Given the description of an element on the screen output the (x, y) to click on. 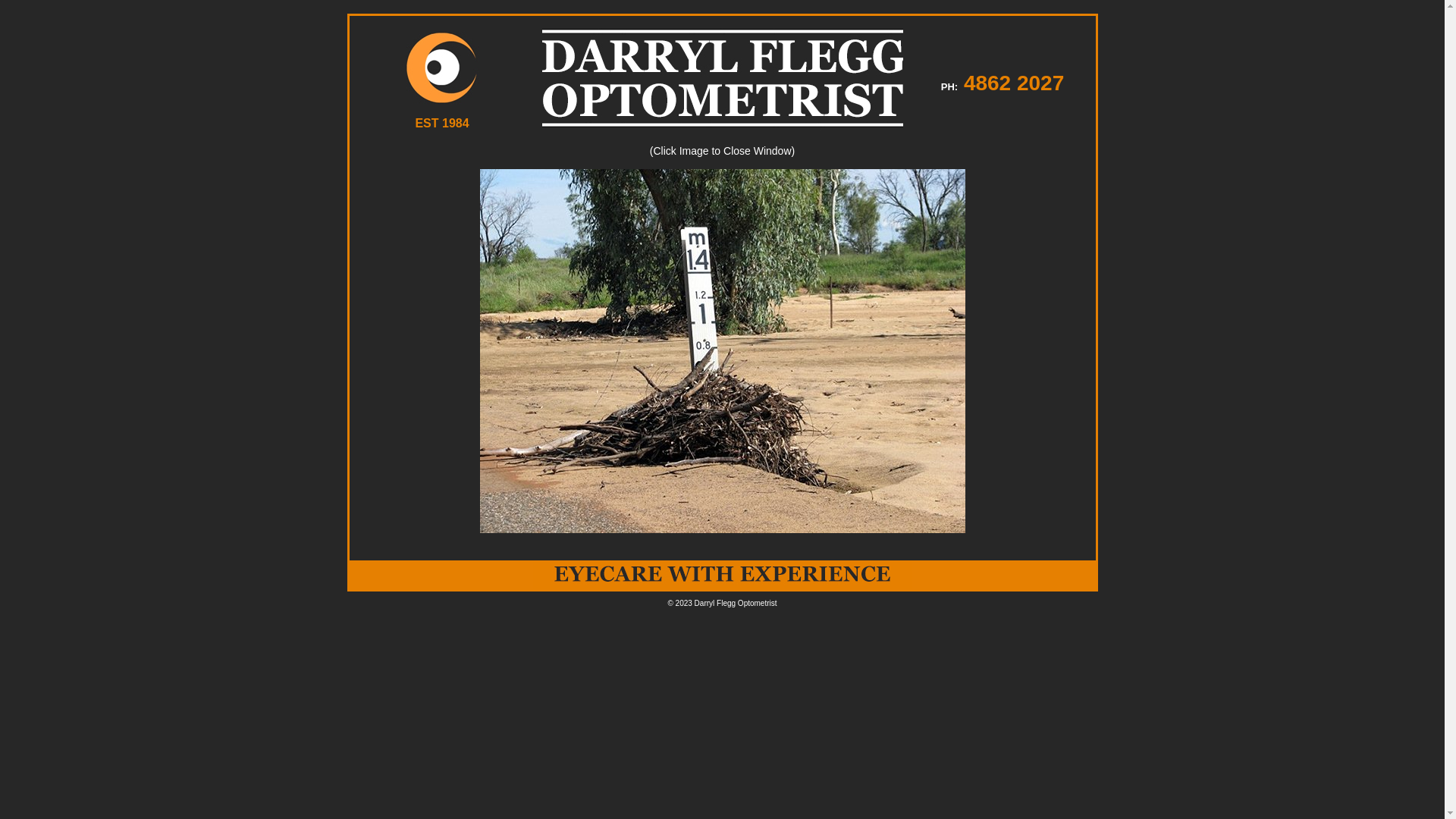
(Click Image to Close Window) Element type: text (721, 339)
Click image to close this window Element type: hover (721, 351)
